Given the description of an element on the screen output the (x, y) to click on. 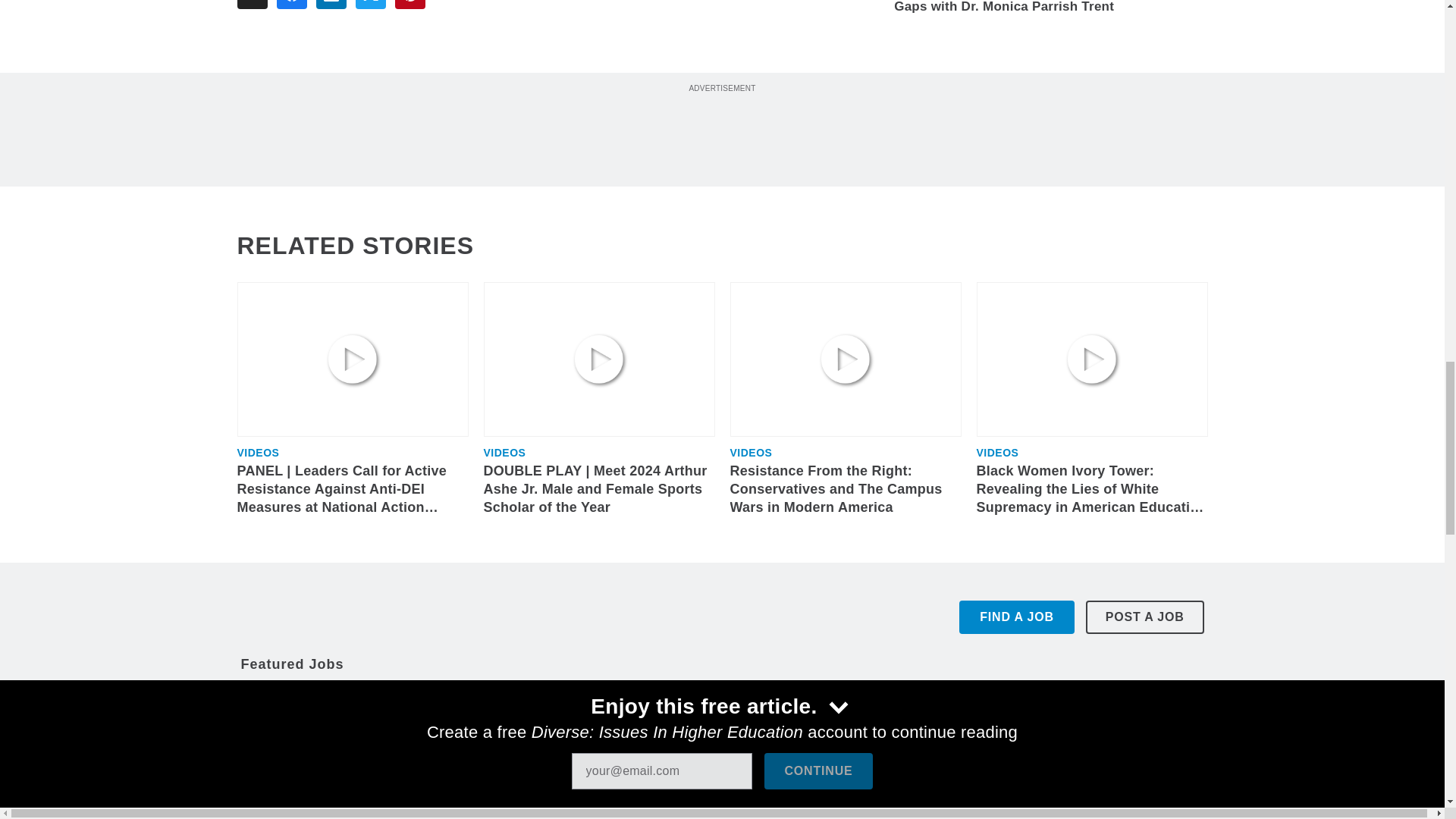
Share To facebook (290, 4)
Share To linkedin (330, 4)
Share To print (250, 4)
